Given the description of an element on the screen output the (x, y) to click on. 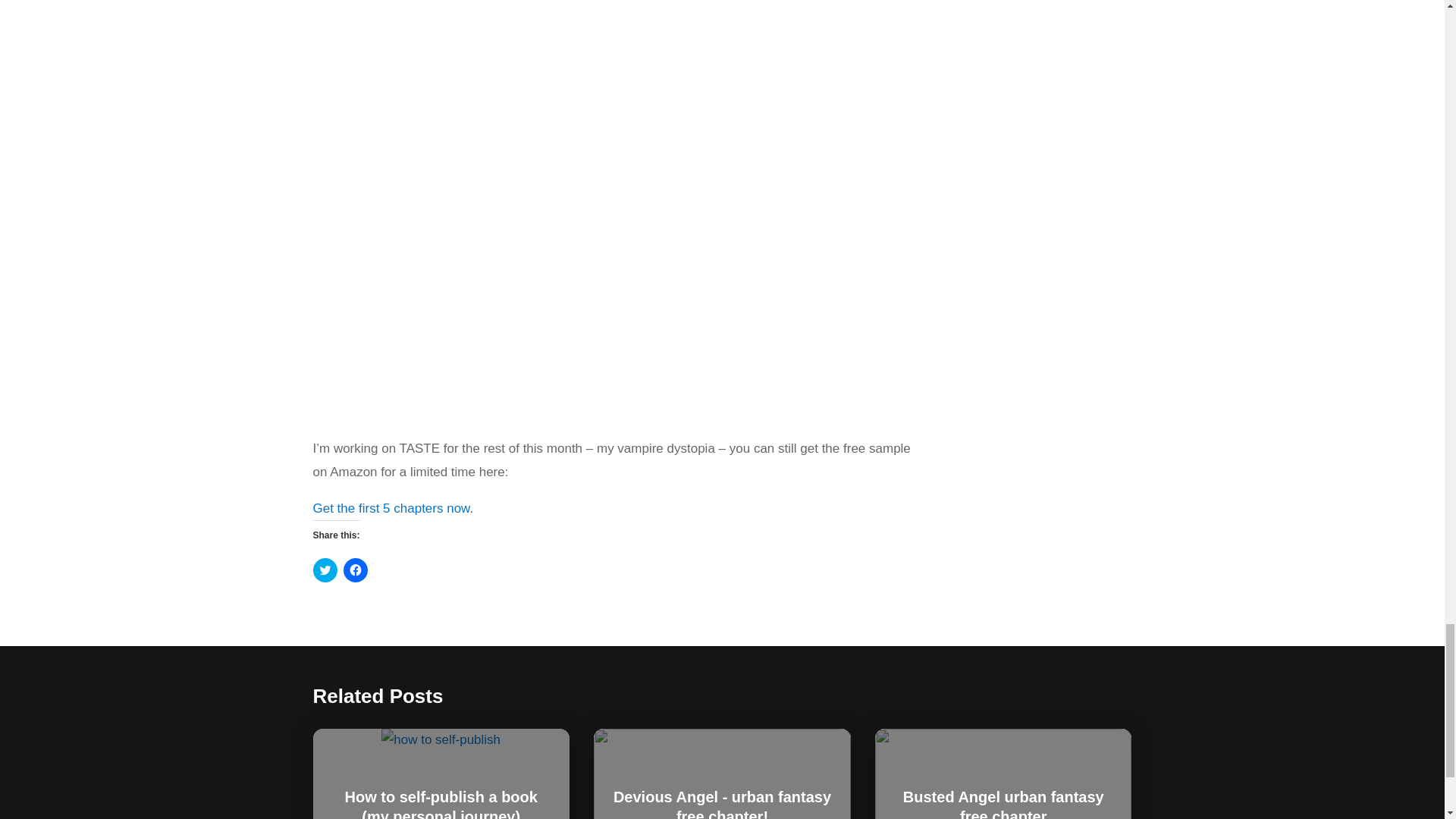
Click to share on Facebook (354, 569)
Click to share on Twitter (324, 569)
Devious Angel - urban fantasy free chapter! (721, 803)
Busted Angel urban fantasy free chapter (1002, 803)
Get the first 5 chapters now. (393, 508)
